Given the description of an element on the screen output the (x, y) to click on. 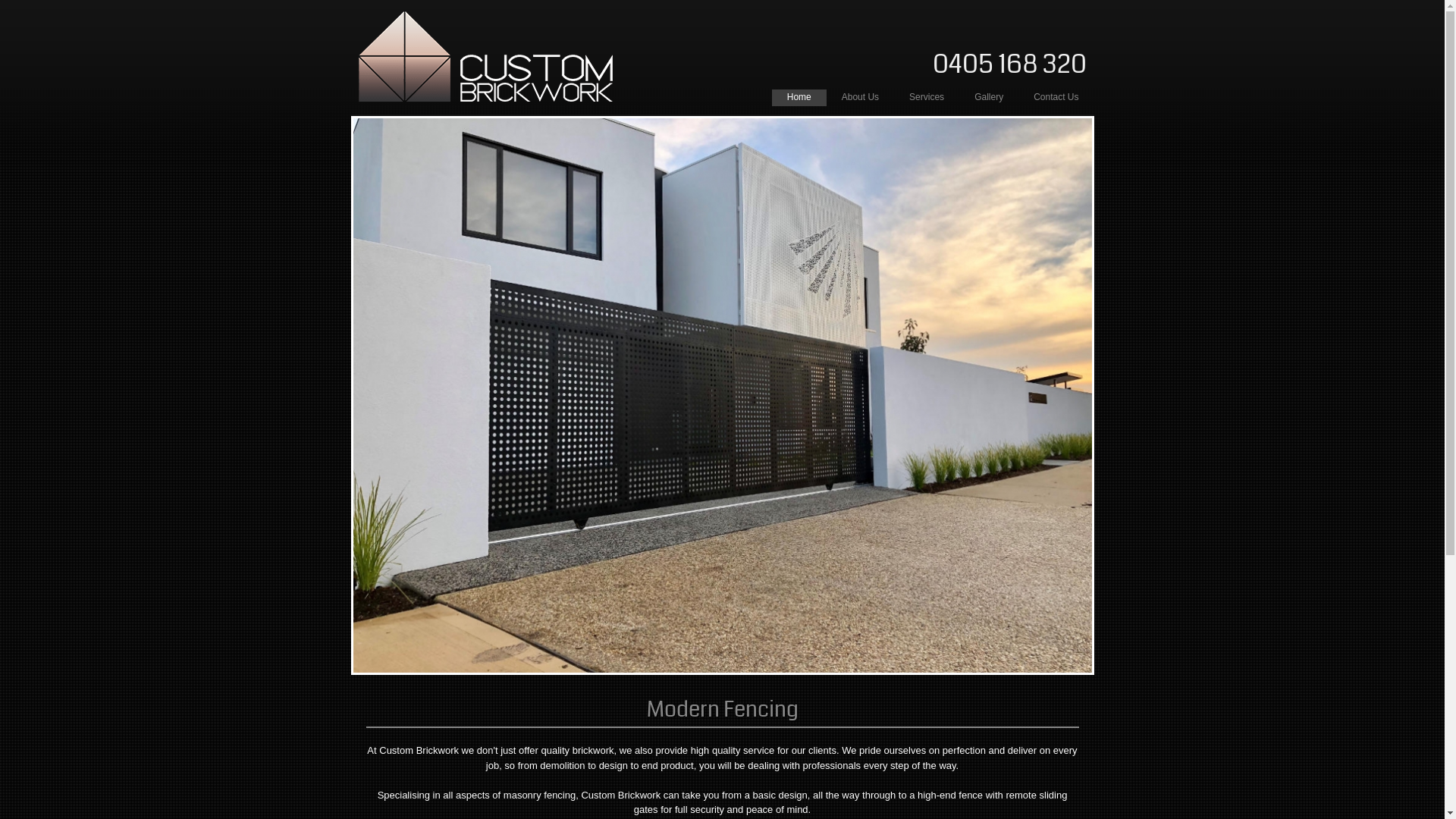
Home Element type: text (798, 97)
Services Element type: text (926, 97)
About Us Element type: text (860, 97)
Gallery Element type: text (988, 97)
0405 168 320 Element type: text (1009, 64)
Contact Us Element type: text (1055, 97)
